Given the description of an element on the screen output the (x, y) to click on. 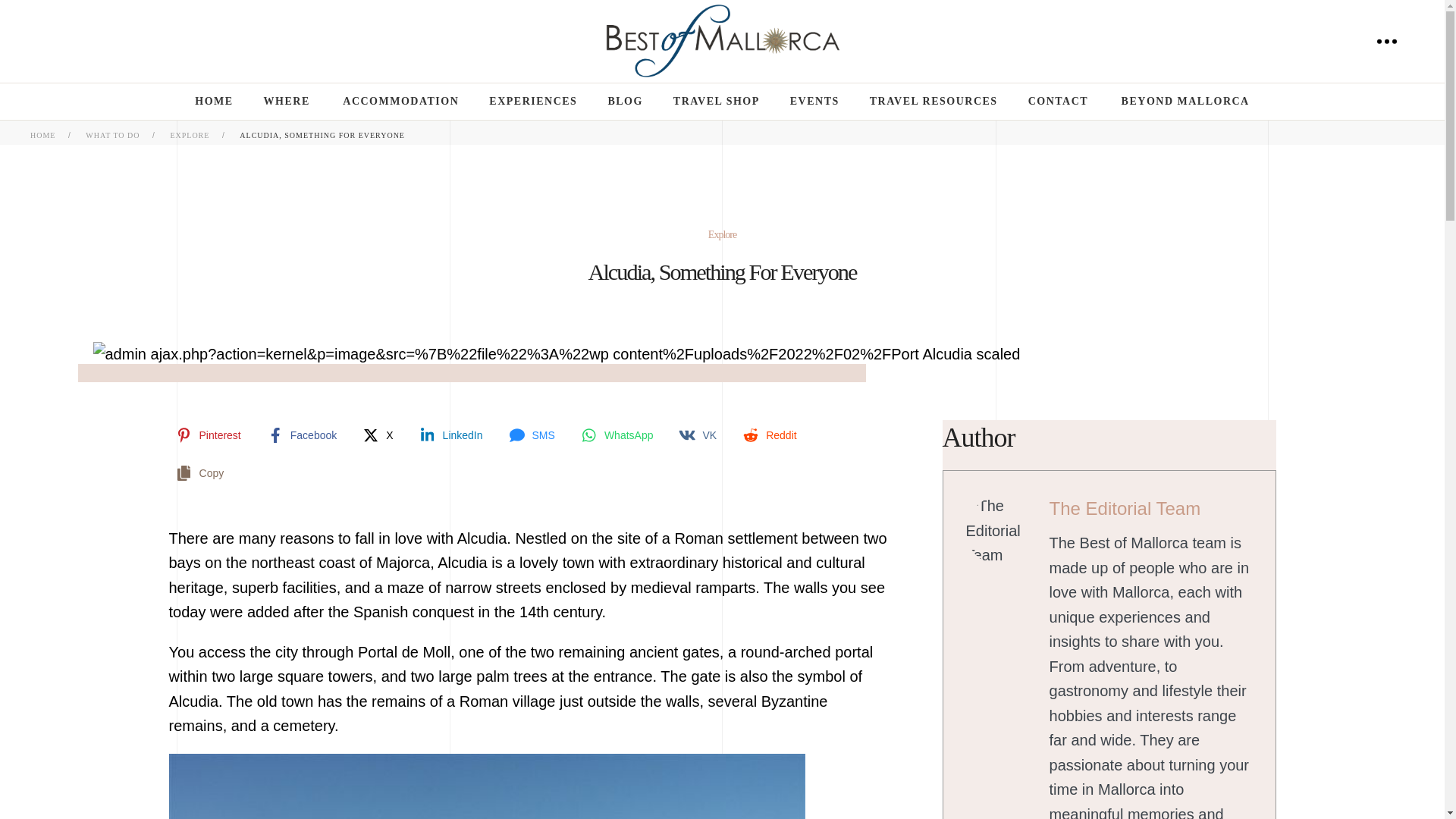
HOME (213, 101)
ACCOMMODATION (400, 101)
EXPERIENCES (532, 101)
BLOG (624, 101)
The Editorial Team (1125, 507)
WHERE (288, 101)
